Given the description of an element on the screen output the (x, y) to click on. 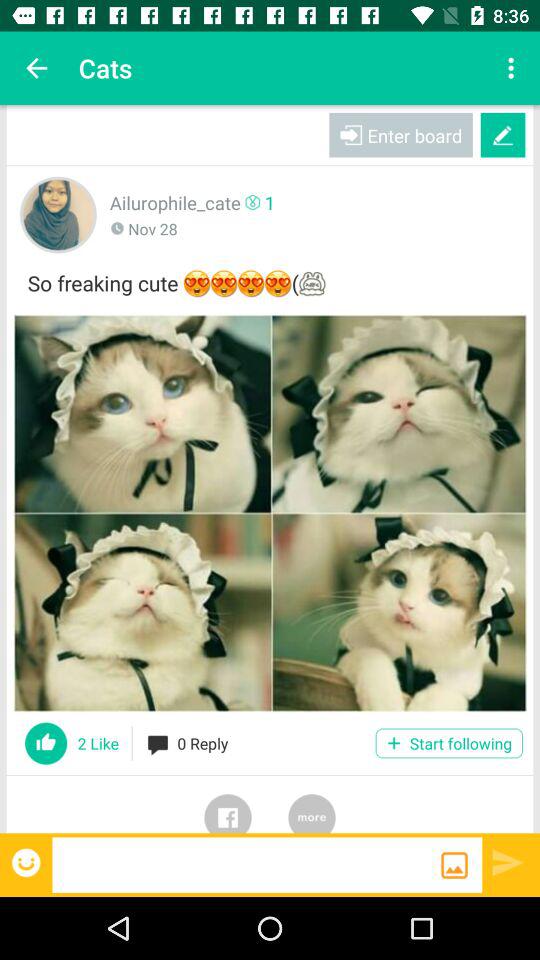
emoji icon button (28, 862)
